Given the description of an element on the screen output the (x, y) to click on. 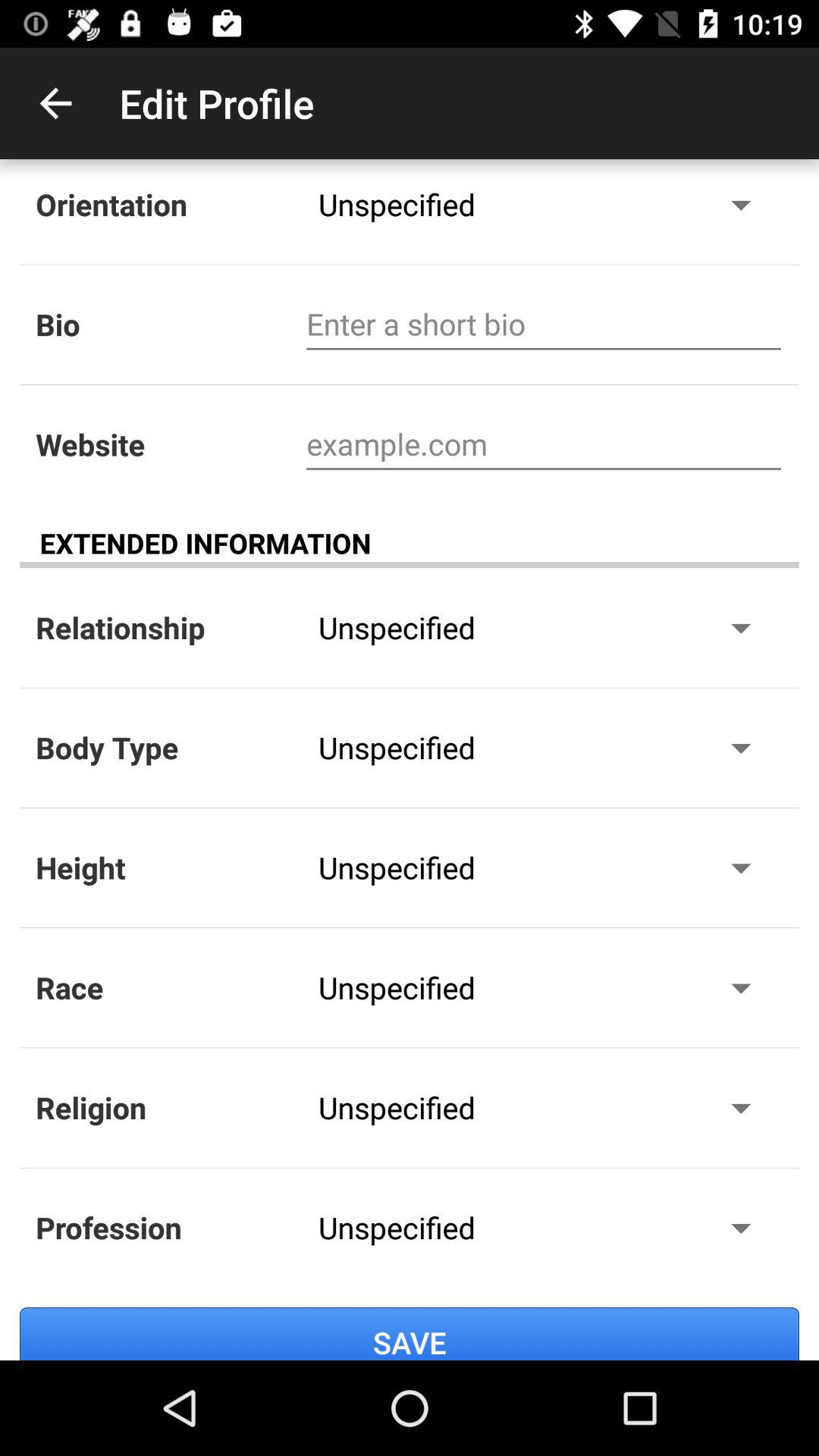
enter website name (543, 444)
